Given the description of an element on the screen output the (x, y) to click on. 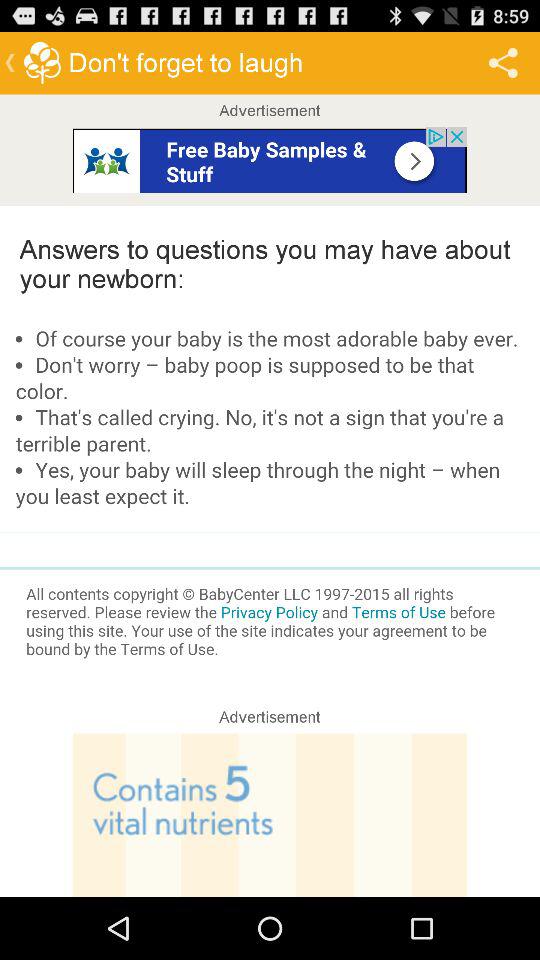
advertisement banner click to open content (269, 815)
